Given the description of an element on the screen output the (x, y) to click on. 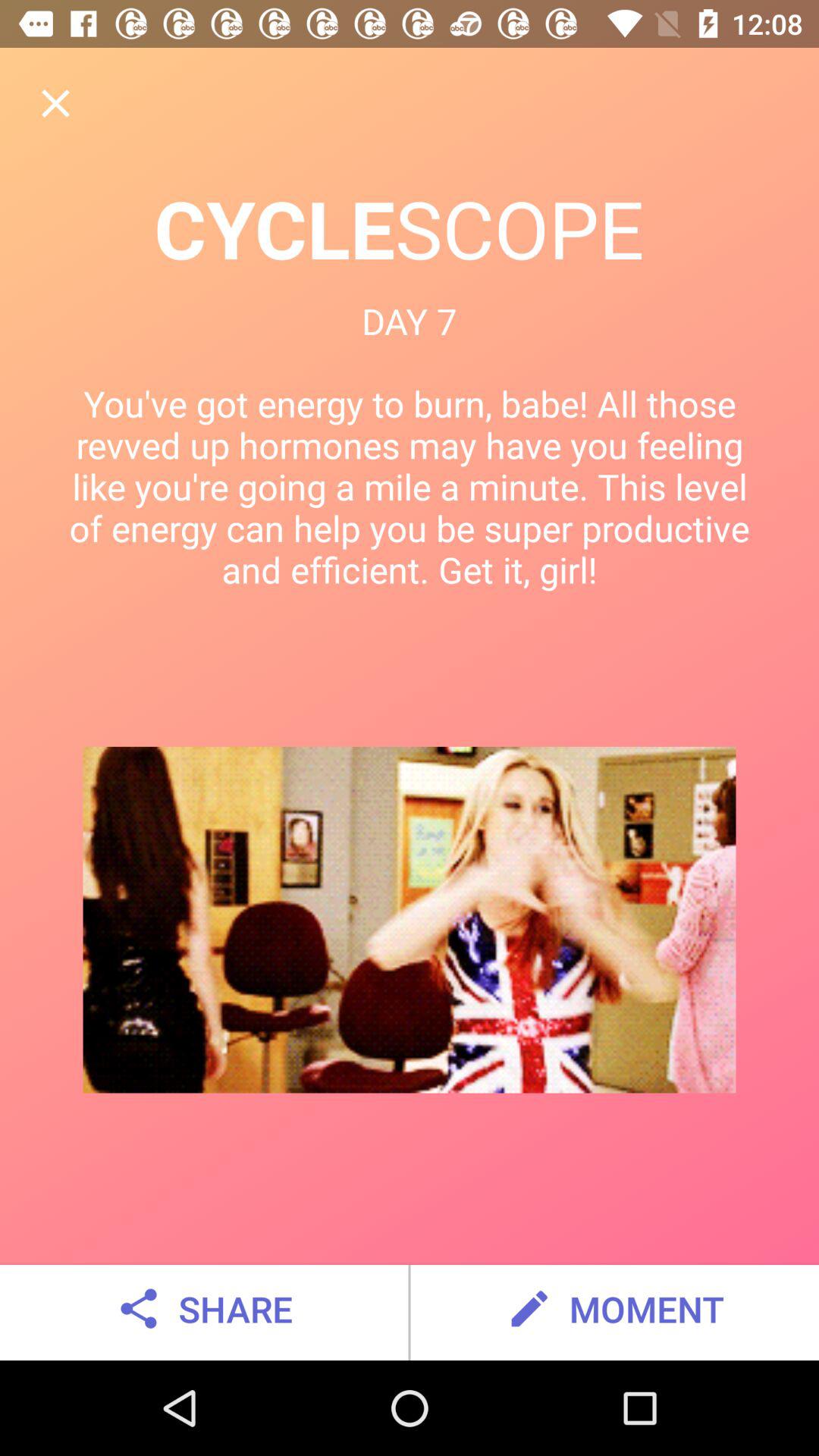
jump until moment (614, 1308)
